Given the description of an element on the screen output the (x, y) to click on. 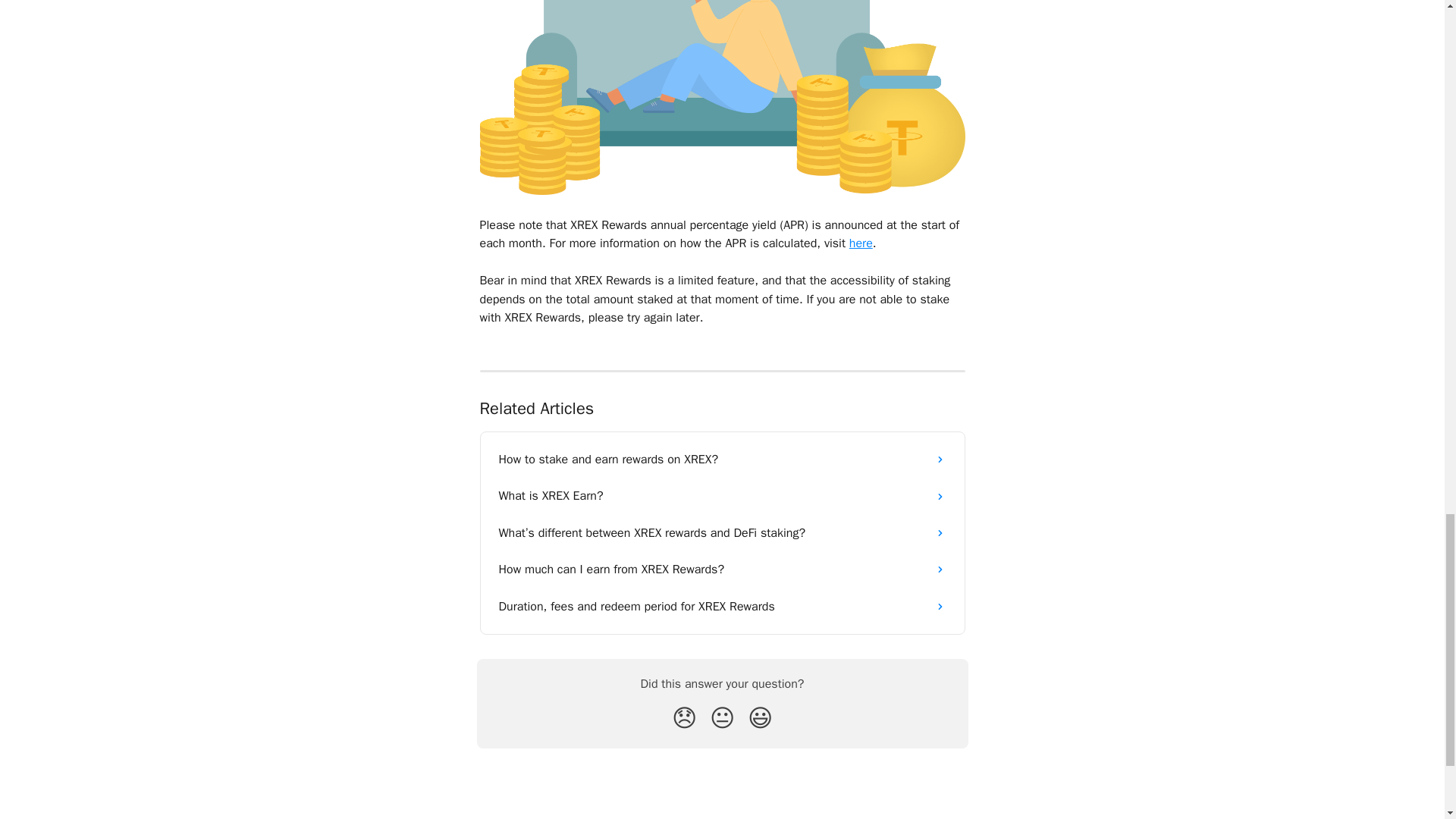
How much can I earn from XREX Rewards? (722, 569)
How to stake and earn rewards on XREX? (722, 459)
What is XREX Earn? (722, 495)
here (860, 242)
Duration, fees and redeem period for XREX Rewards (722, 606)
